Given the description of an element on the screen output the (x, y) to click on. 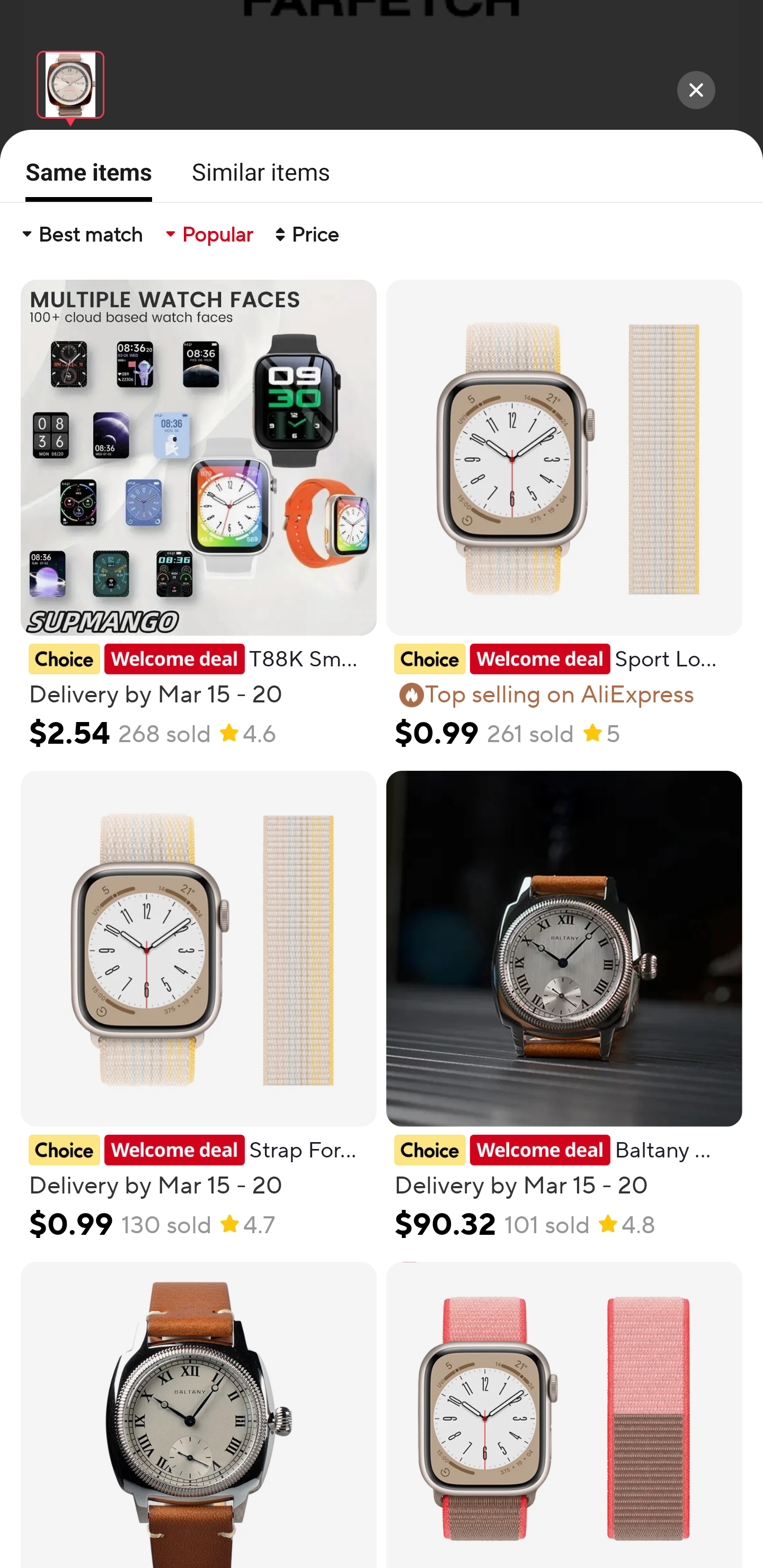
Same items (83, 178)
Similar items (255, 171)
Best match (81, 234)
Popular (207, 234)
Price (305, 234)
